Given the description of an element on the screen output the (x, y) to click on. 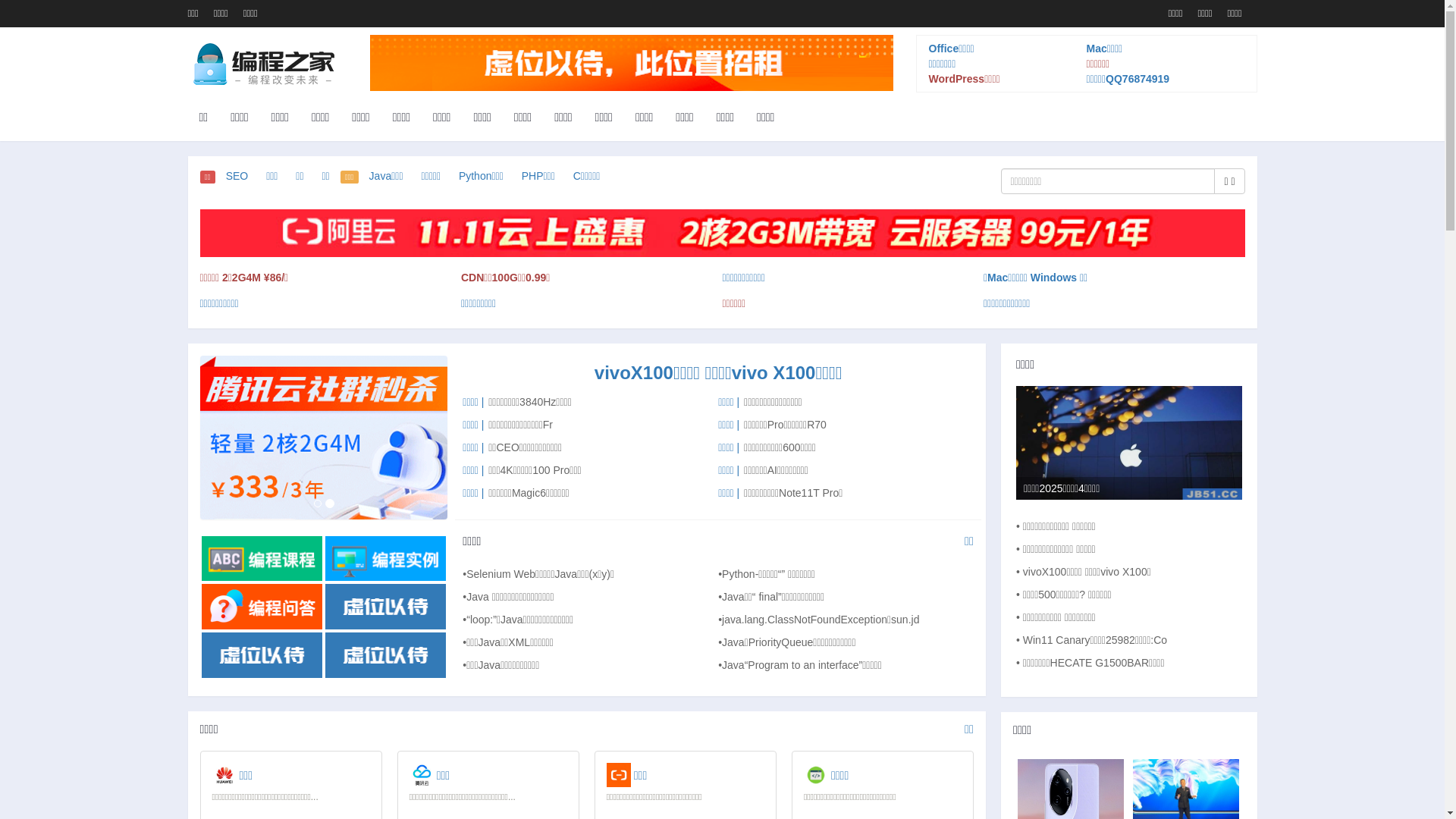
SEO Element type: text (236, 175)
